Given the description of an element on the screen output the (x, y) to click on. 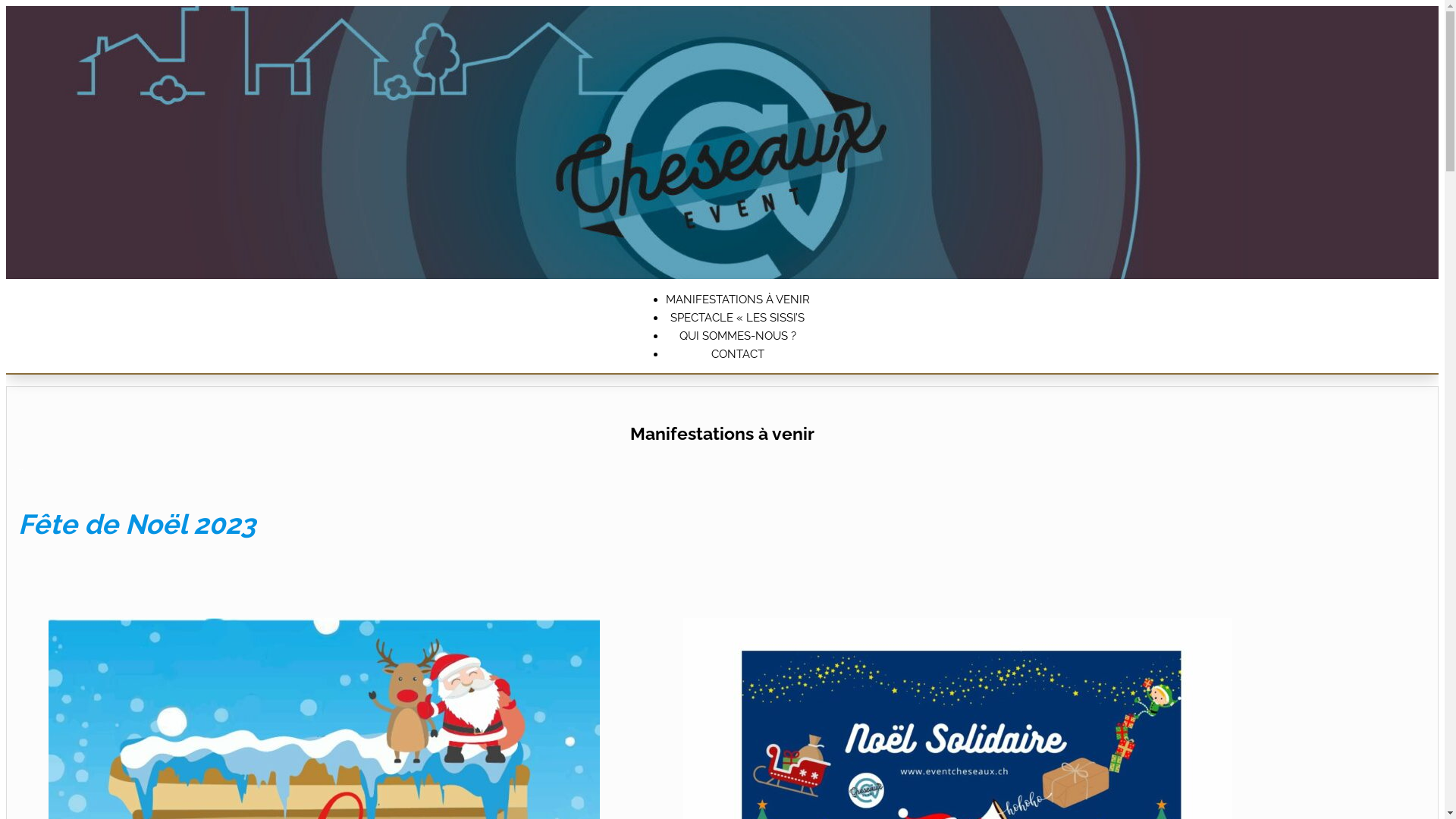
CONTACT Element type: text (737, 354)
QUI SOMMES-NOUS ? Element type: text (737, 335)
